Given the description of an element on the screen output the (x, y) to click on. 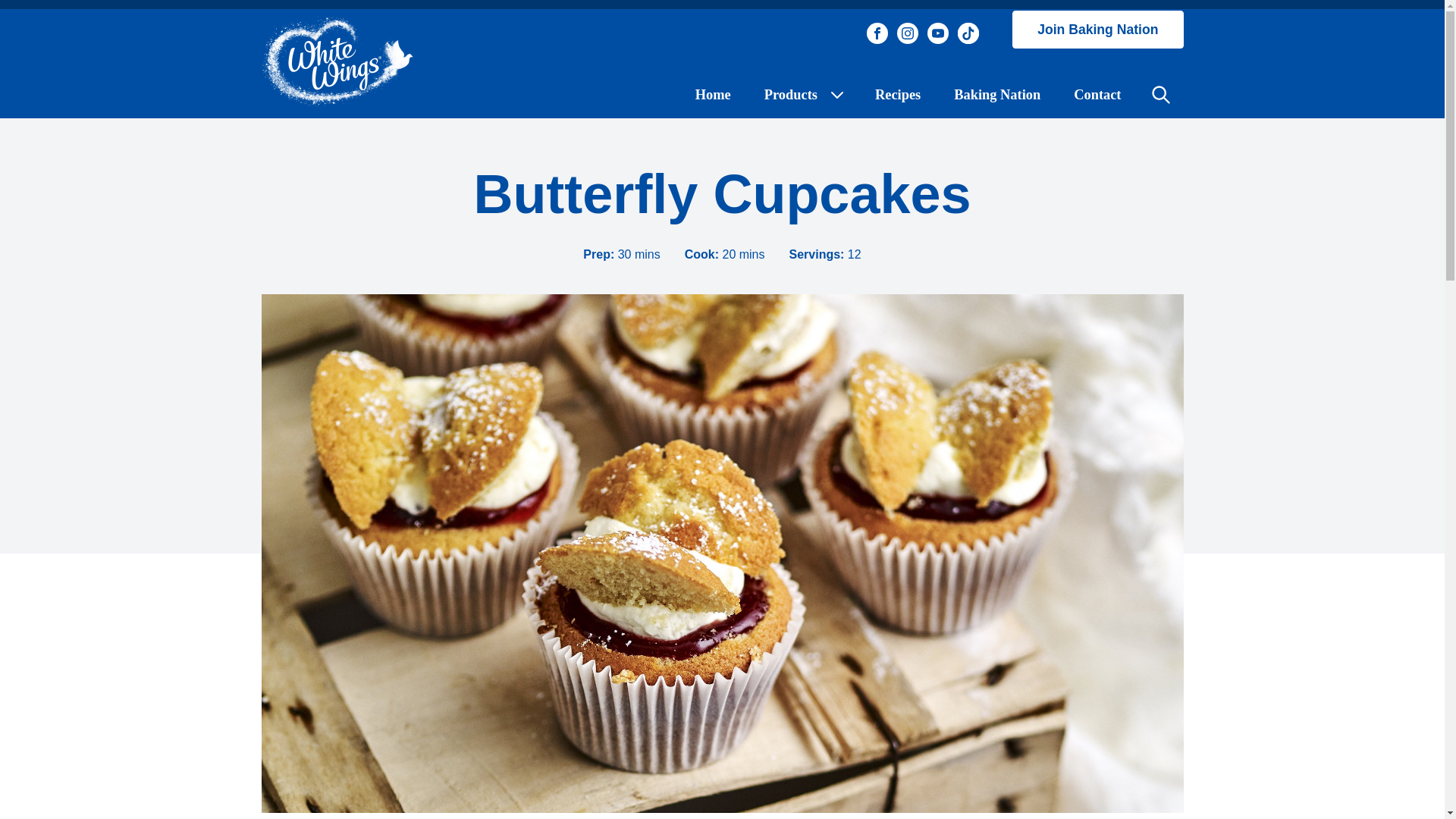
Join Baking Nation (1096, 29)
Visit our Instagram page. (907, 33)
Visit our Facebook page. (877, 33)
Visit our Youtube page. (938, 33)
Products (803, 94)
Recipes (898, 94)
Contact (1097, 94)
Home (713, 94)
Baking Nation (997, 94)
